Given the description of an element on the screen output the (x, y) to click on. 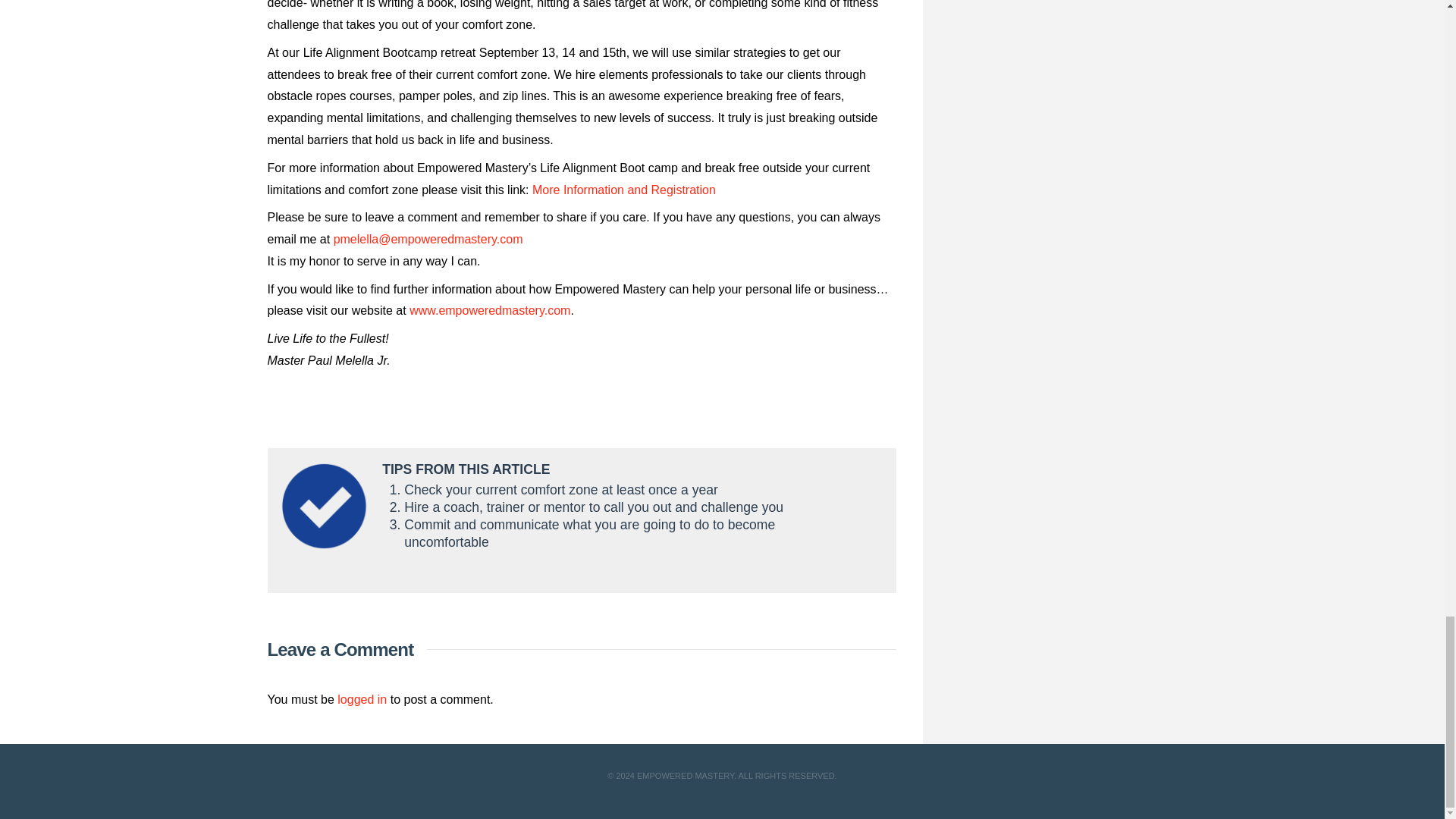
logged in (362, 698)
www.empoweredmastery.com (489, 309)
 More Information and Registration (622, 188)
